Given the description of an element on the screen output the (x, y) to click on. 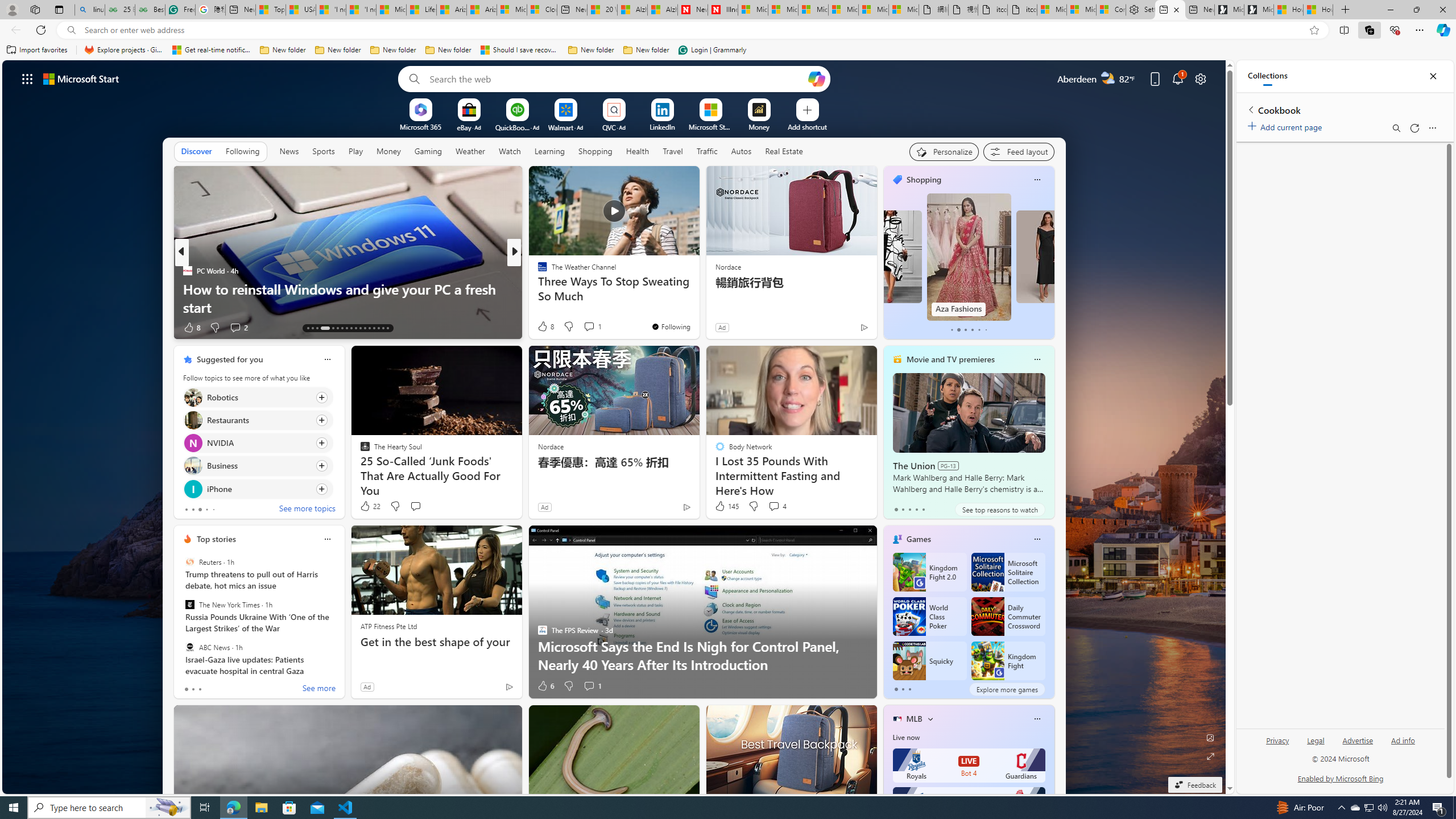
Autos (740, 151)
The New York Times (189, 604)
News (288, 151)
View comments 36 Comment (592, 327)
Privacy (1278, 740)
News (288, 151)
120 Like (545, 327)
AutomationID: tab-29 (387, 328)
Privacy (1277, 745)
Learning (549, 151)
CNET (537, 288)
Legal (1315, 740)
Eco Hugo (537, 270)
